Given the description of an element on the screen output the (x, y) to click on. 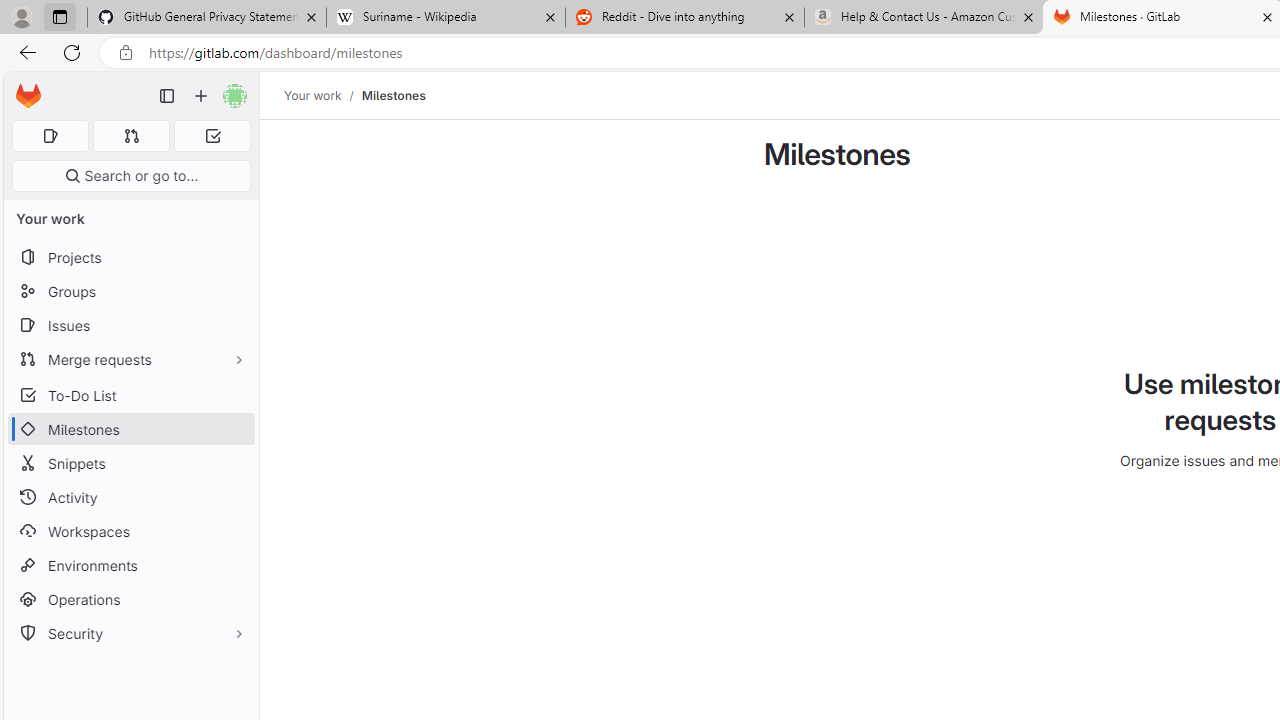
Merge requests (130, 358)
Security (130, 633)
Operations (130, 599)
Suriname - Wikipedia (445, 17)
Reddit - Dive into anything (684, 17)
To-Do list 0 (212, 136)
Workspaces (130, 530)
Snippets (130, 463)
Projects (130, 257)
Environments (130, 564)
Environments (130, 564)
